Given the description of an element on the screen output the (x, y) to click on. 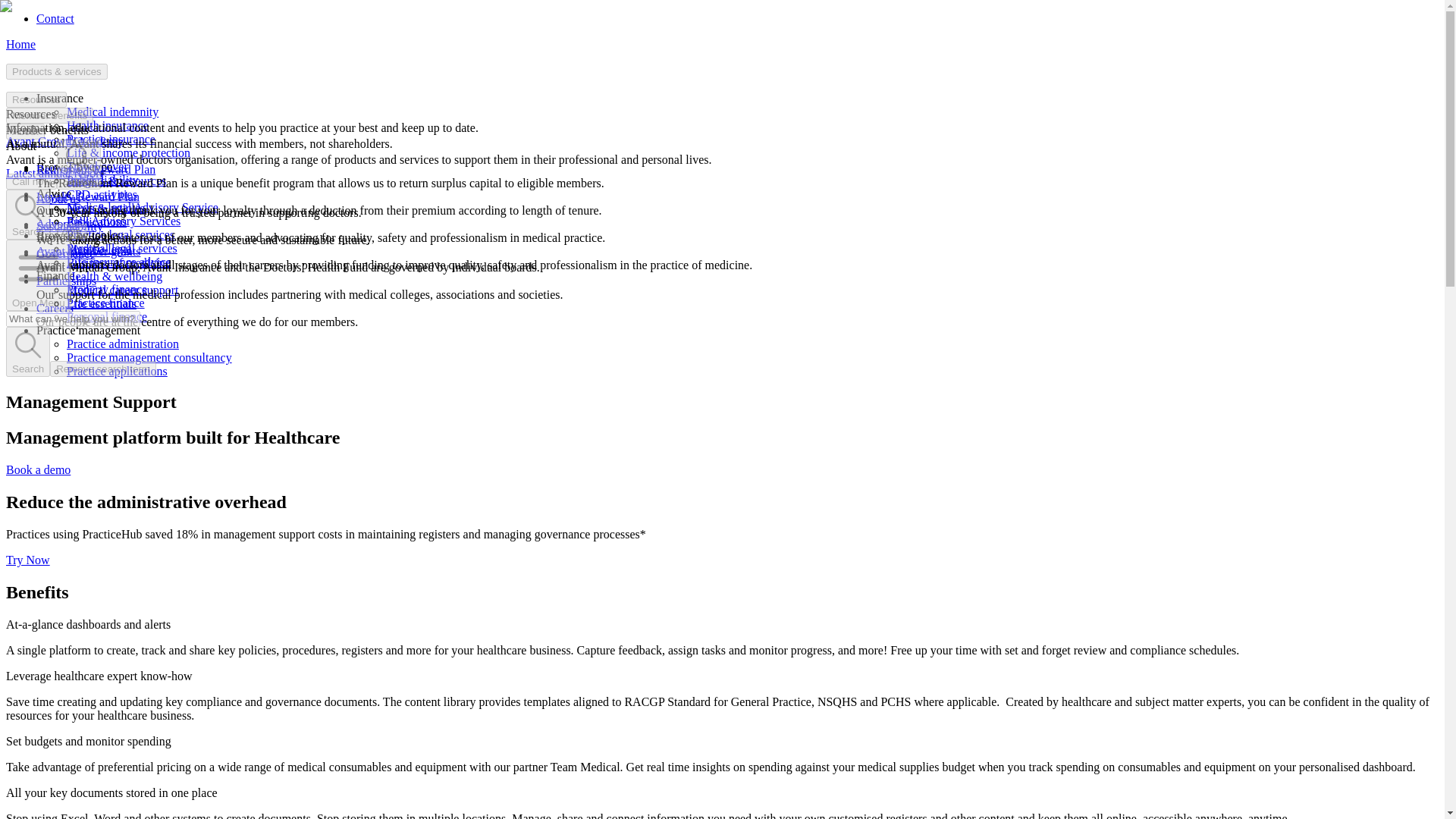
Travel cover (97, 165)
Advocacy (60, 223)
Life insurance advice (118, 261)
Retirement Reward Plan (95, 169)
Life essentials (101, 303)
Loyalty Reward Plan (87, 196)
Public liability (102, 179)
Latest annual report (54, 173)
About us (58, 198)
Contact (55, 18)
Practice insurance (110, 138)
Medico-legal Advisory Service (142, 206)
Business of medicine (118, 262)
Risk Advisory Services (123, 220)
Health insurance (107, 124)
